Given the description of an element on the screen output the (x, y) to click on. 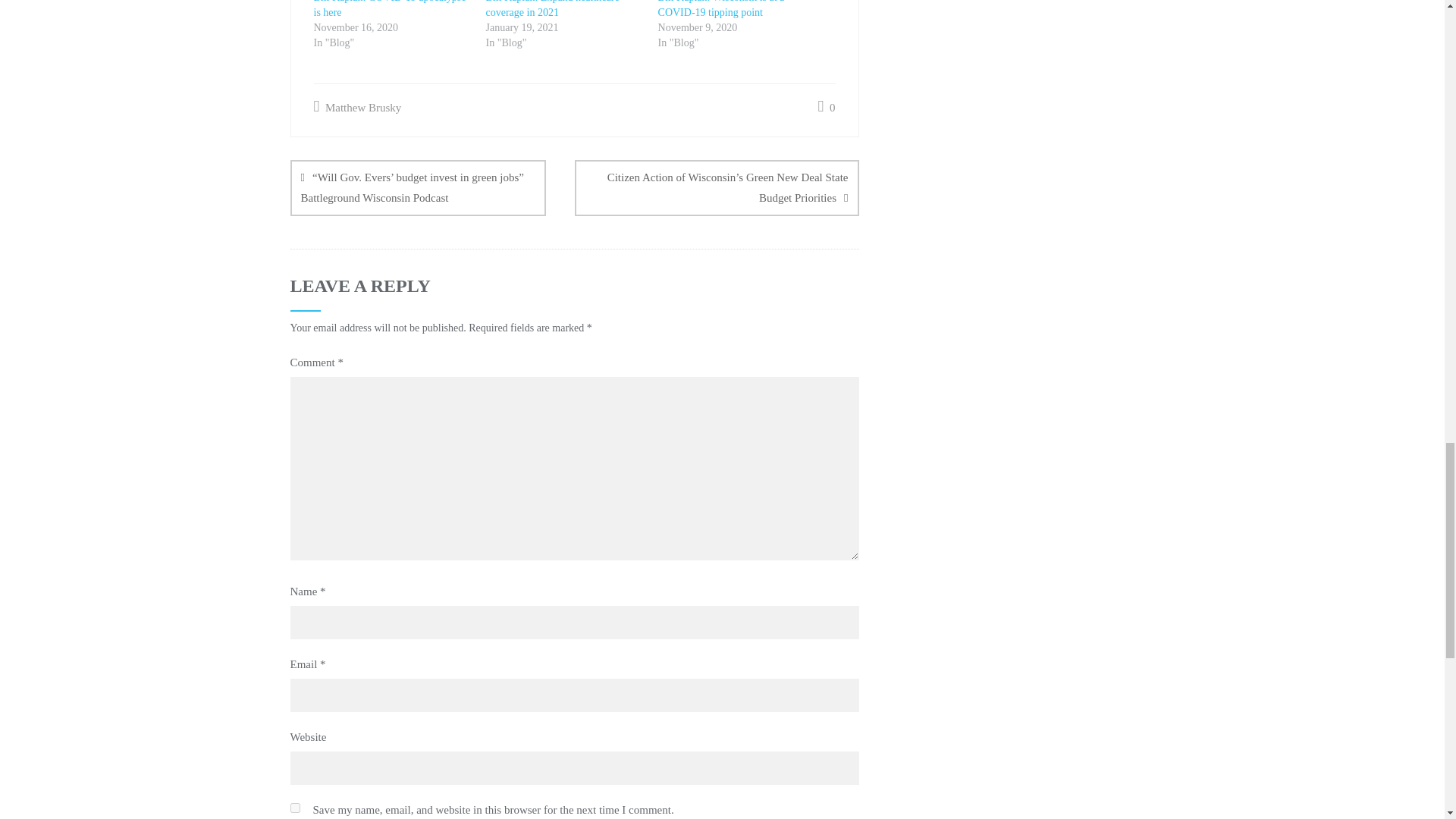
yes (294, 808)
Bill Kaplan: Expand healthcare coverage in 2021 (553, 9)
Bill Kaplan: Wisconsin is at a COVID-19 tipping point (721, 9)
Bill Kaplan: COVID-19 apocalypse is here (389, 9)
